Given the description of an element on the screen output the (x, y) to click on. 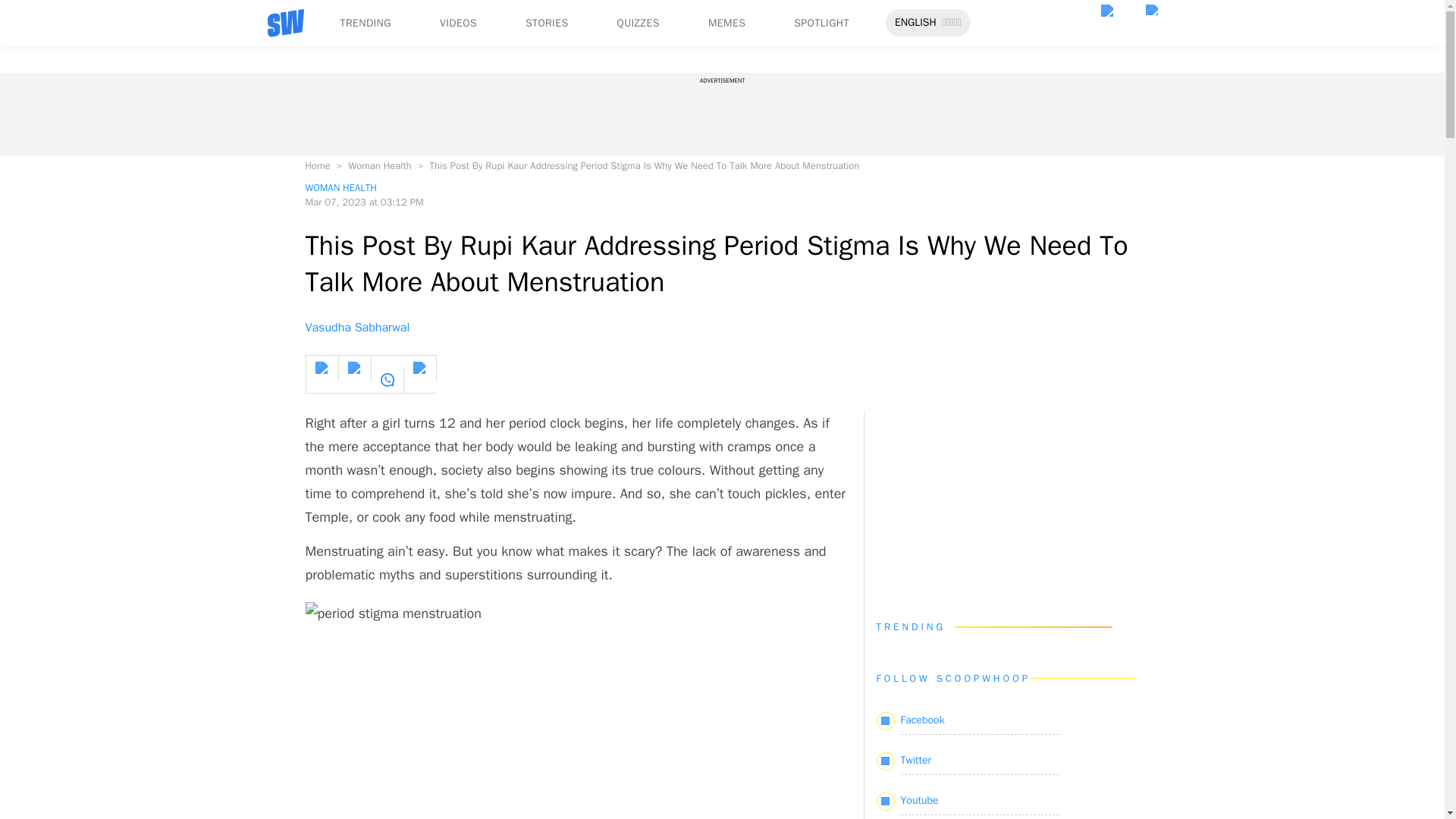
SPOTLIGHT (820, 22)
STORIES (547, 22)
ENGLISH (915, 22)
VIDEOS (458, 22)
QUIZZES (638, 22)
MEMES (726, 22)
TRENDING (364, 22)
